Given the description of an element on the screen output the (x, y) to click on. 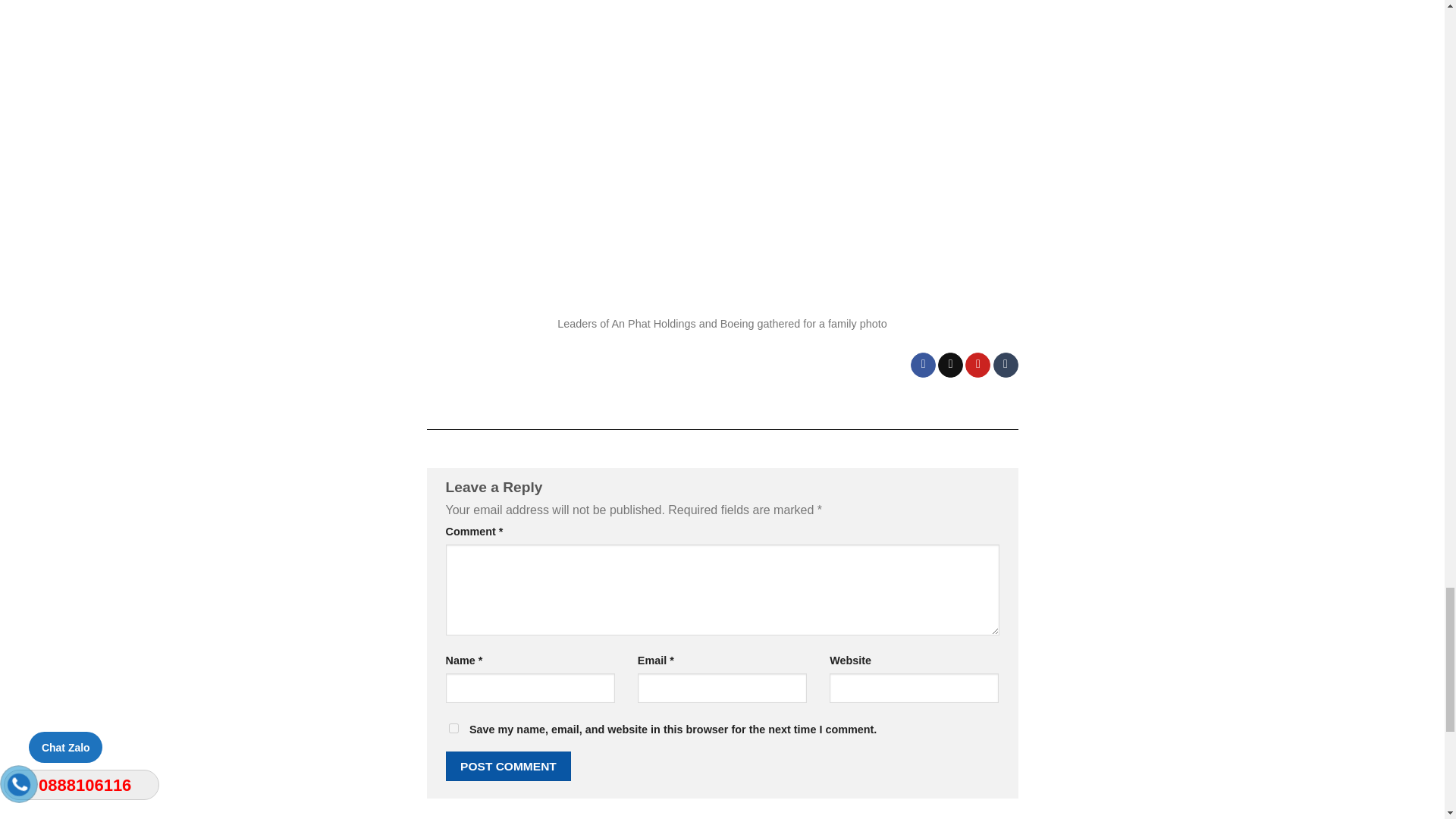
Share on Facebook (923, 365)
Post Comment (508, 766)
yes (453, 728)
Pin on Pinterest (977, 365)
Email to a Friend (949, 365)
Share on Tumblr (1004, 365)
